Given the description of an element on the screen output the (x, y) to click on. 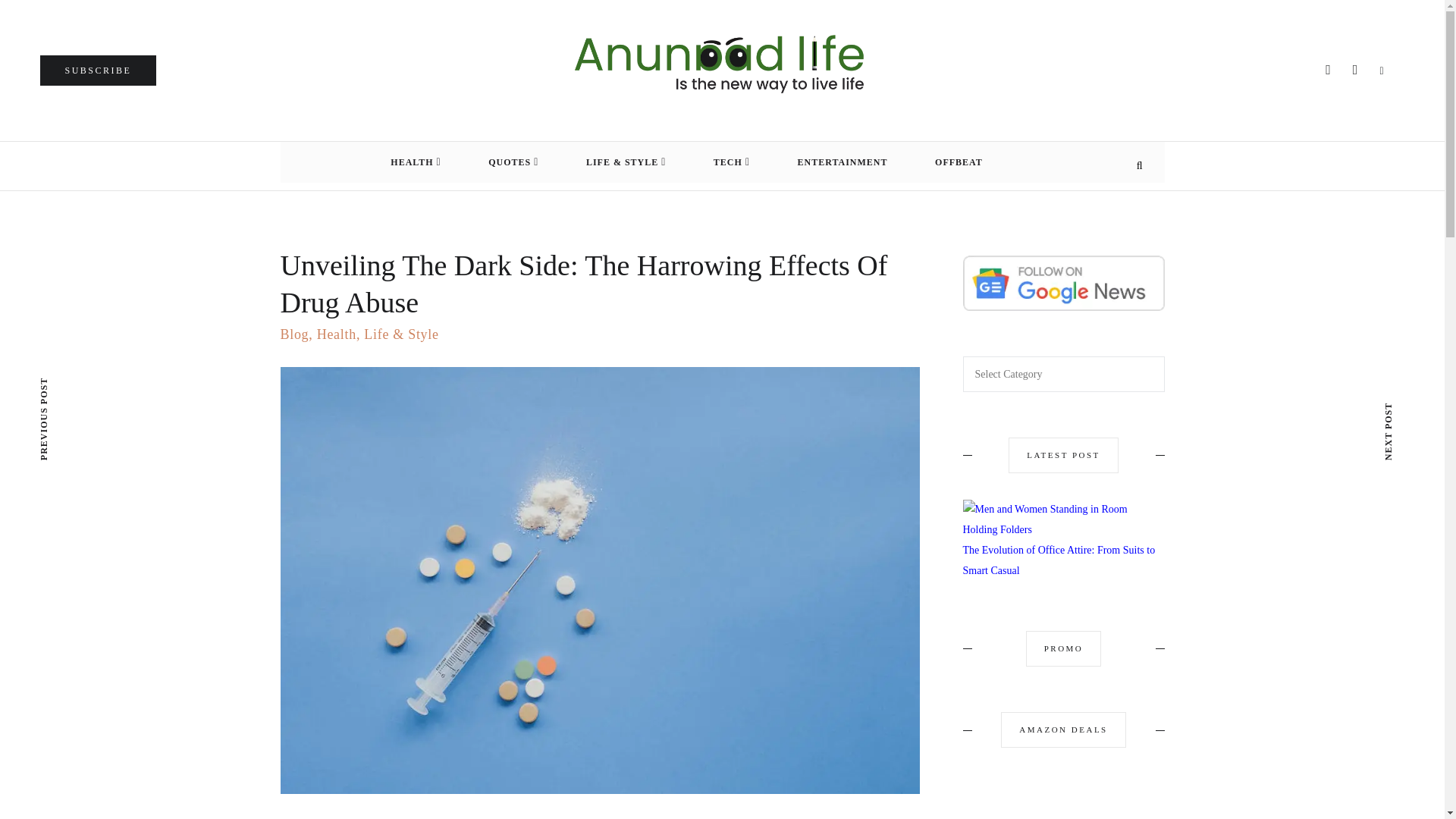
OFFBEAT (958, 161)
TECH (730, 161)
QUOTES (512, 161)
SUBSCRIBE (97, 70)
HEALTH (415, 161)
ENTERTAINMENT (842, 161)
